Given the description of an element on the screen output the (x, y) to click on. 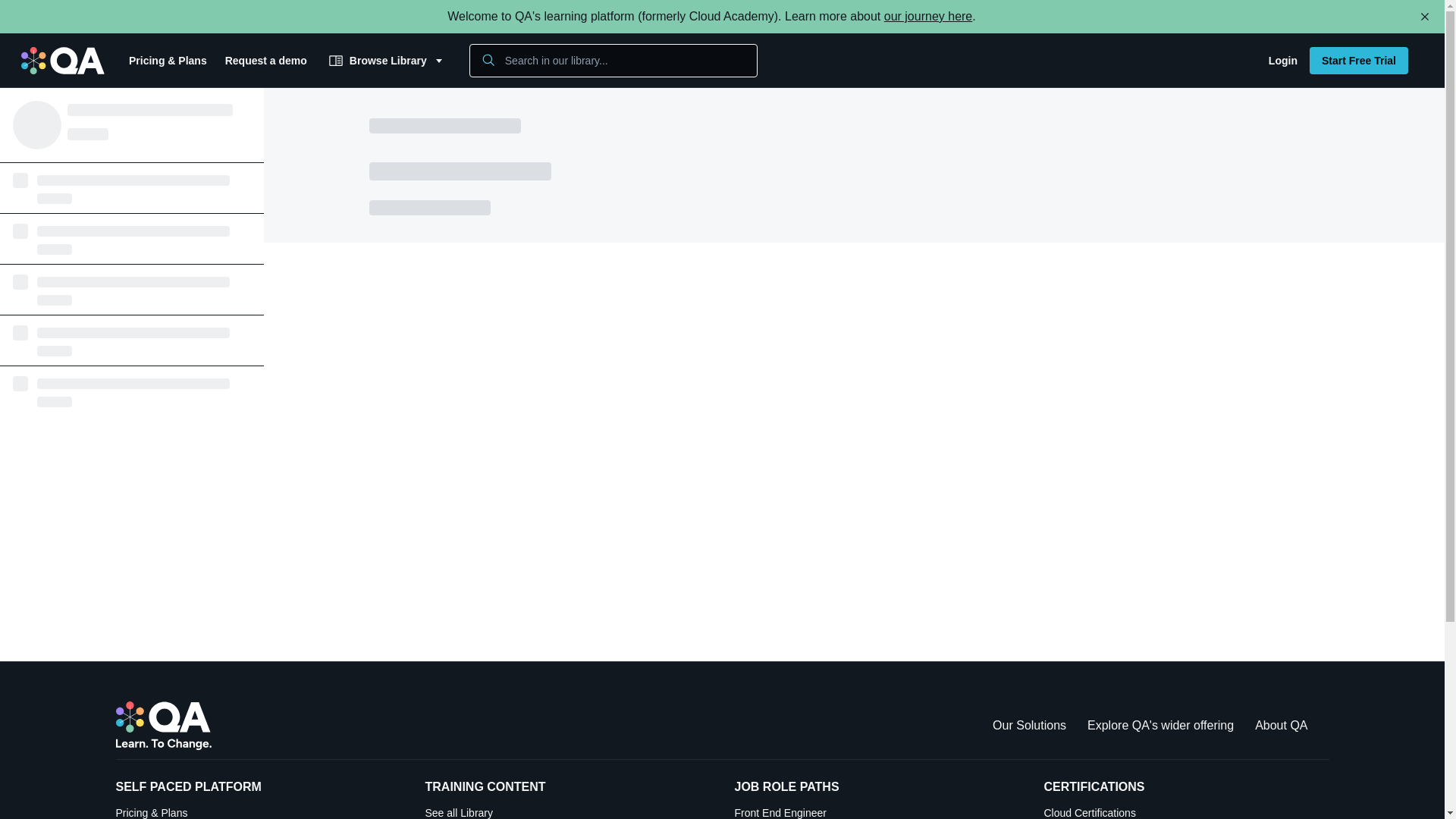
See all Library (567, 812)
Login (927, 15)
Front End Engineer (1282, 60)
Cloud Certifications (876, 812)
Our Solutions (1185, 812)
Start Free Trial (1028, 725)
Explore QA's wider offering (1357, 60)
Request a demo (1160, 725)
Browse Library (266, 60)
